Given the description of an element on the screen output the (x, y) to click on. 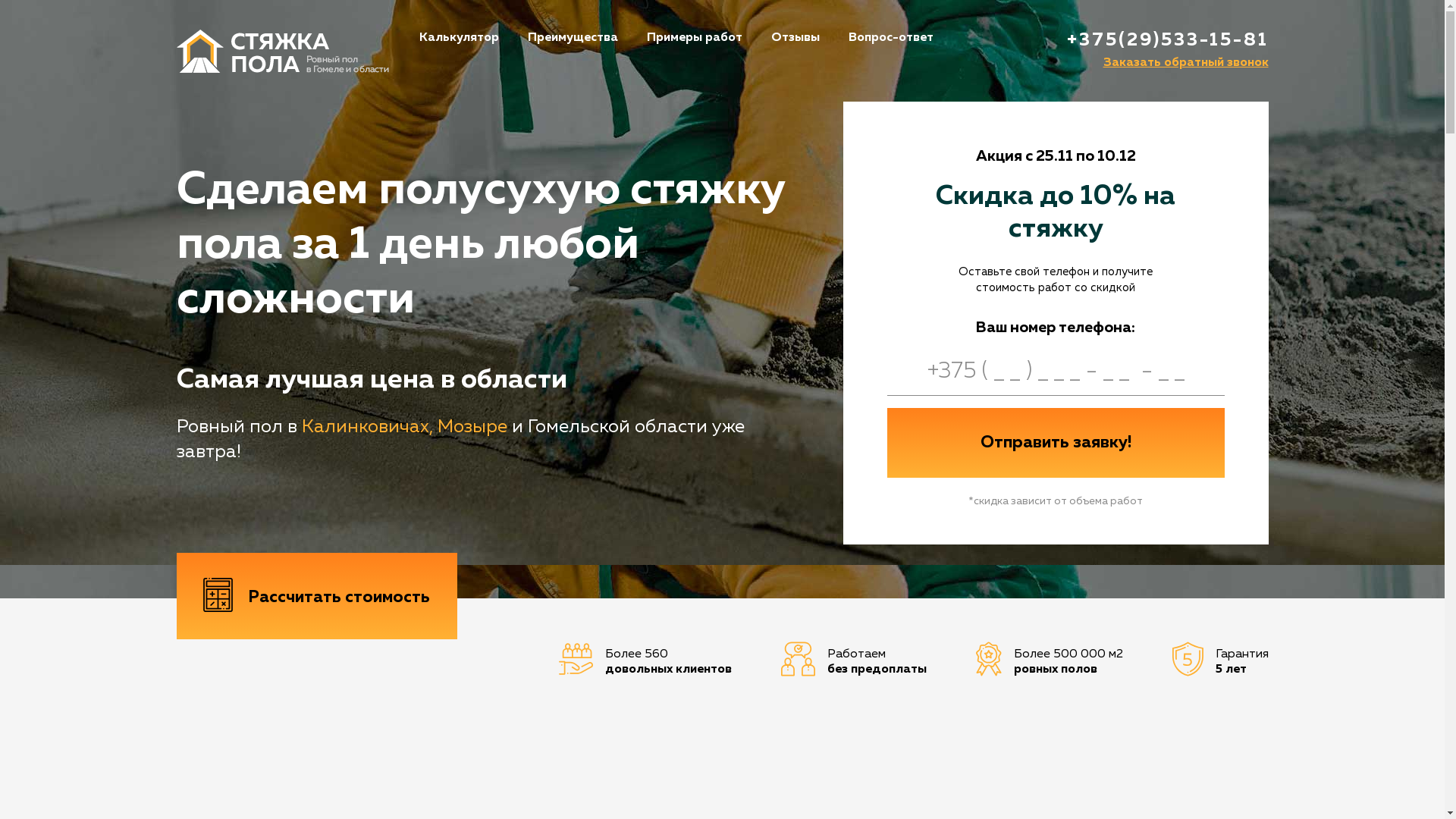
+375(29)533-15-81 Element type: text (1166, 40)
